Given the description of an element on the screen output the (x, y) to click on. 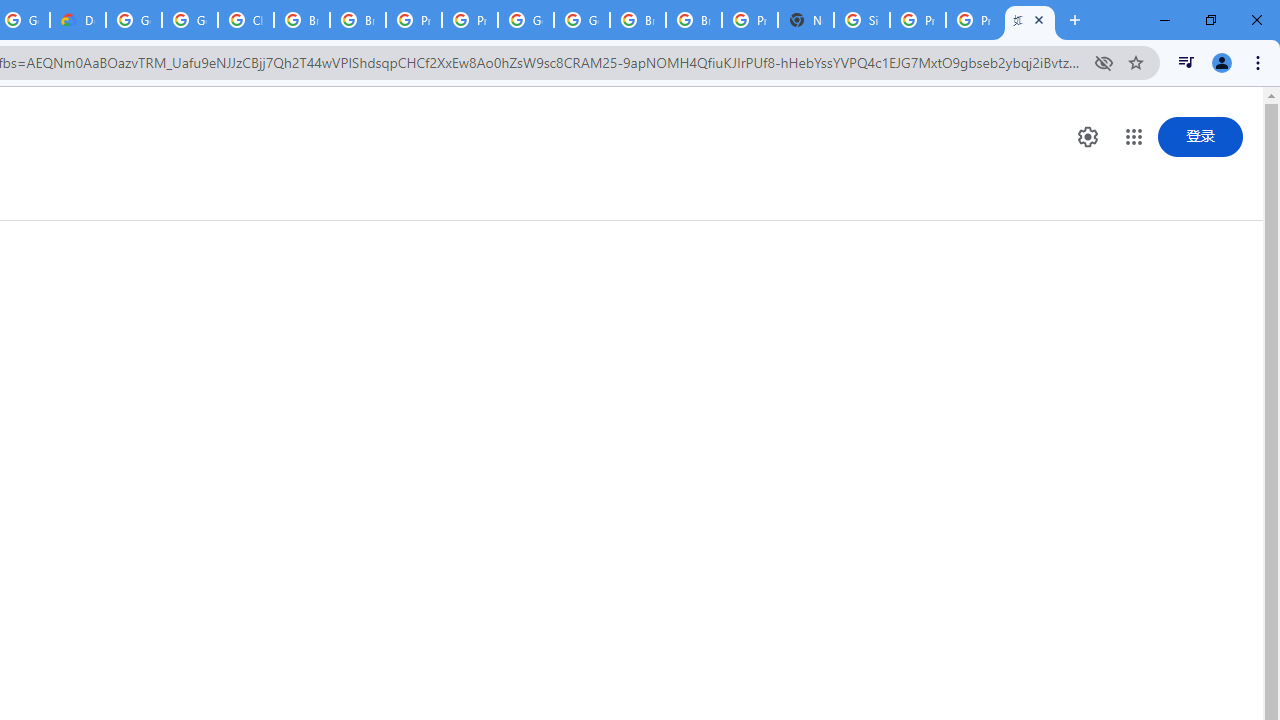
Browse Chrome as a guest - Computer - Google Chrome Help (637, 20)
Google Cloud Platform (582, 20)
Sign in - Google Accounts (861, 20)
Browse Chrome as a guest - Computer - Google Chrome Help (301, 20)
